Given the description of an element on the screen output the (x, y) to click on. 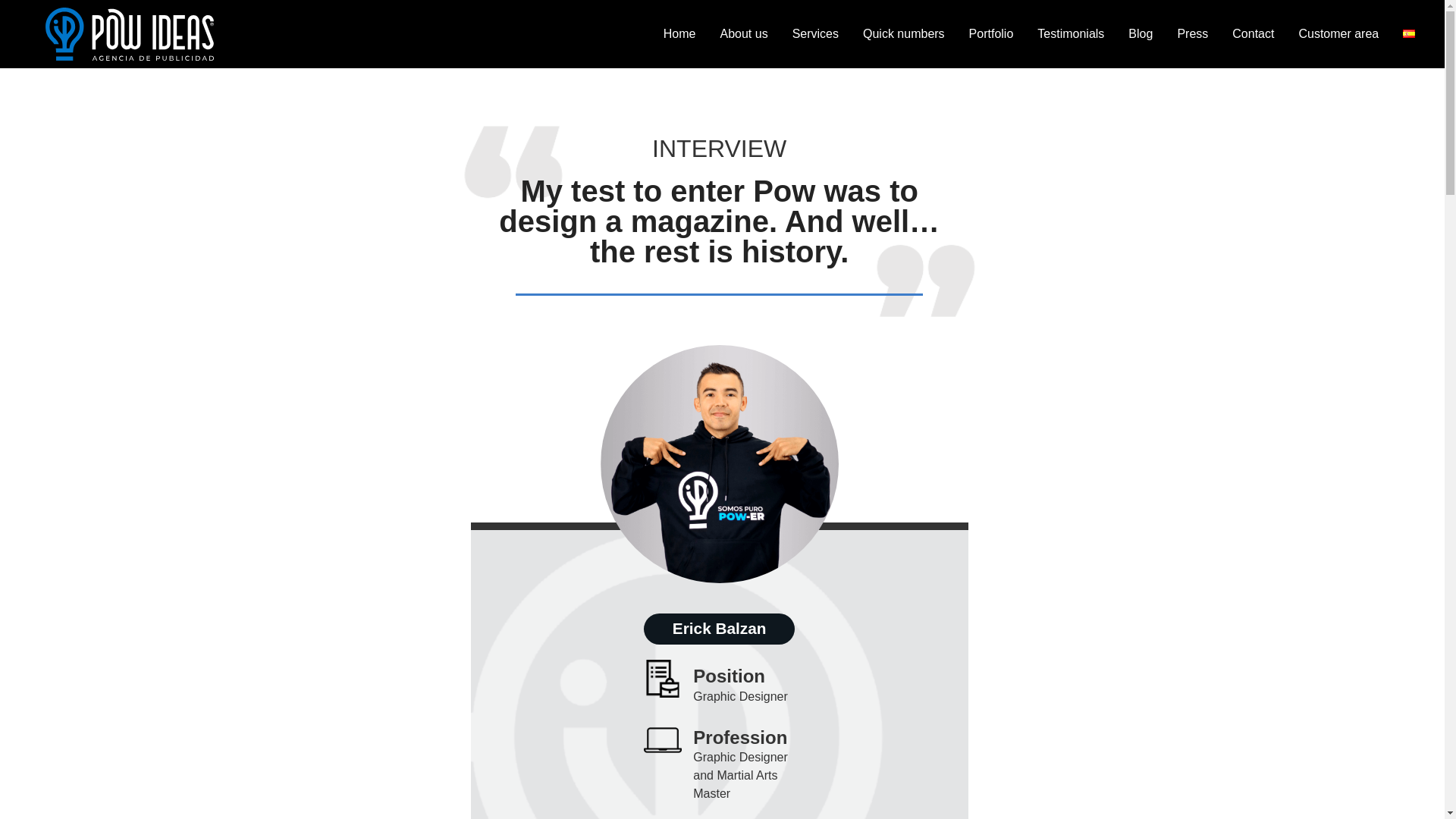
Press (1192, 33)
Blog (1140, 33)
Testimonials (1070, 33)
Home (678, 33)
Services (815, 33)
Contact (1252, 33)
About us (743, 33)
Customer area (1337, 33)
Portfolio (991, 33)
Quick numbers (903, 33)
